Given the description of an element on the screen output the (x, y) to click on. 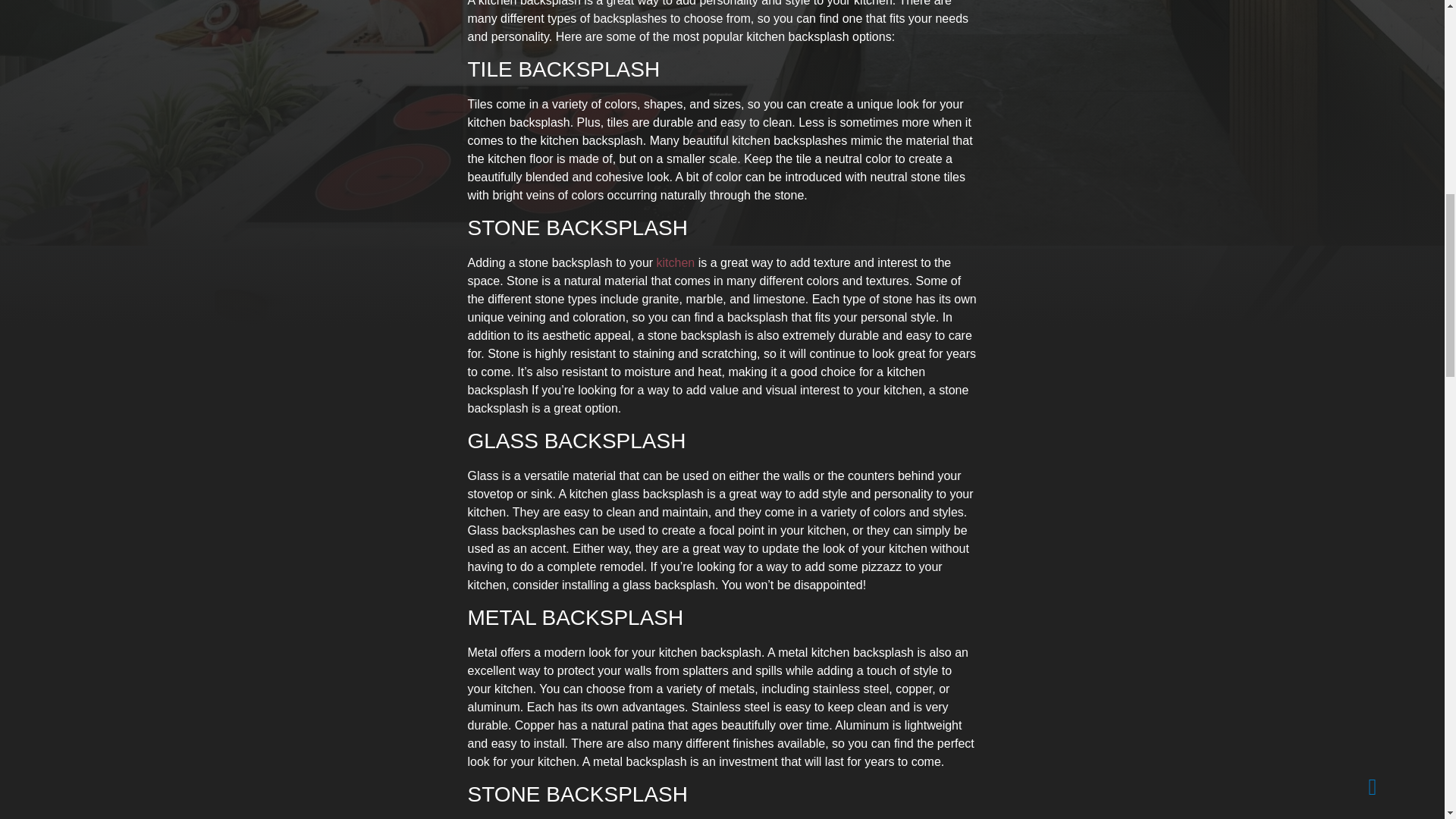
kitchen (675, 262)
